Given the description of an element on the screen output the (x, y) to click on. 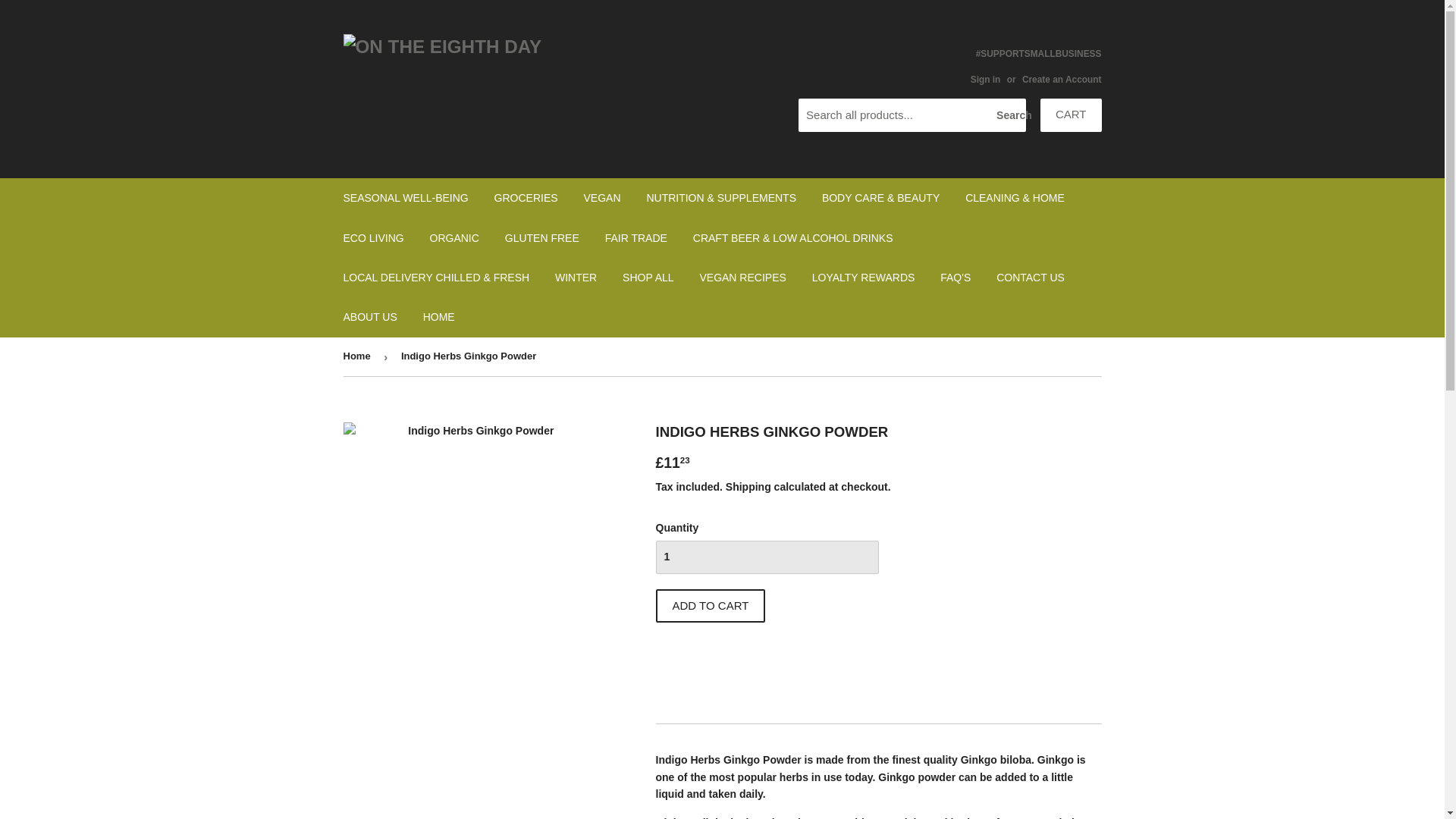
Search (1008, 115)
1 (766, 557)
Sign in (986, 79)
Create an Account (1062, 79)
CART (1071, 114)
